Given the description of an element on the screen output the (x, y) to click on. 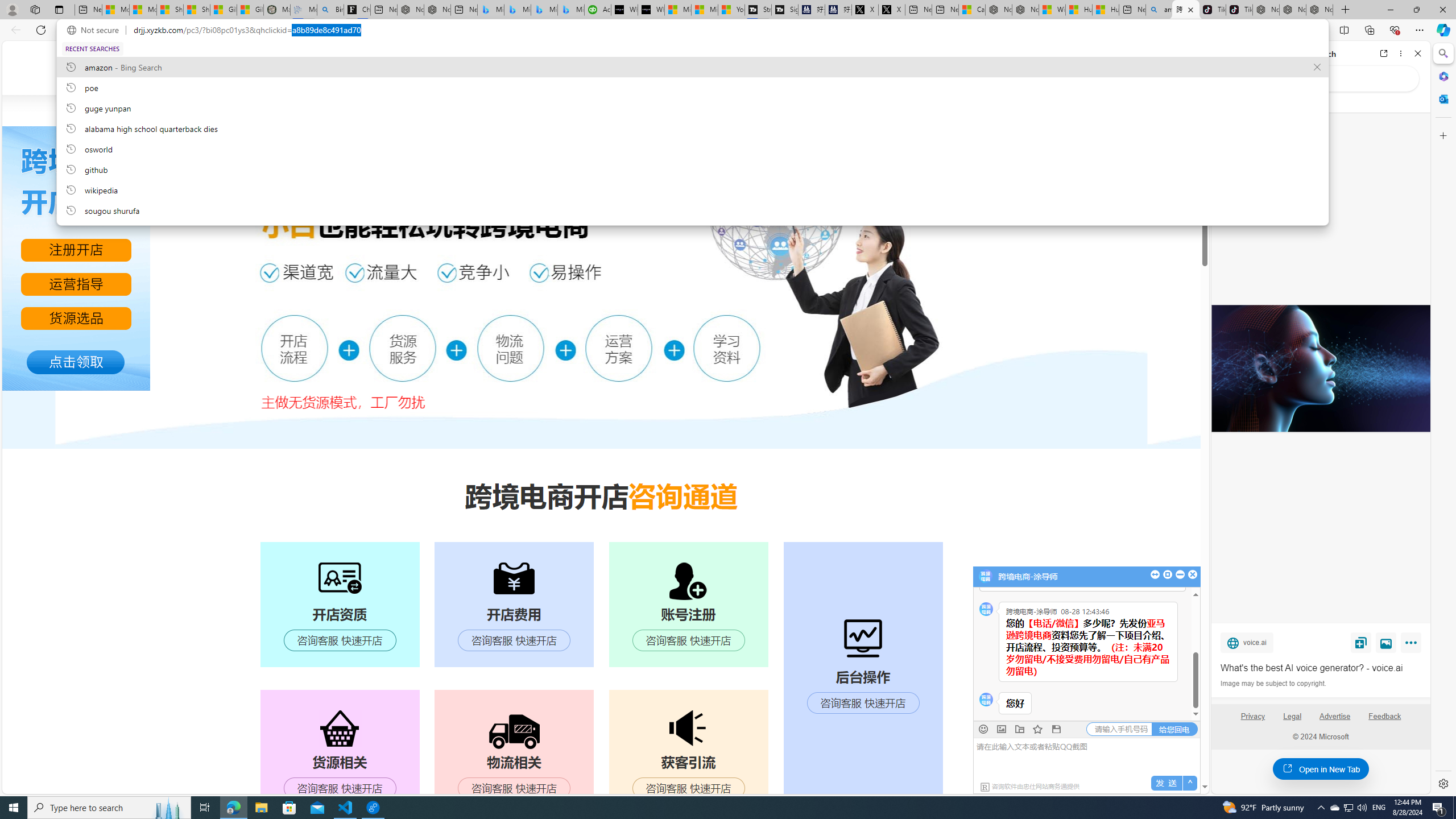
sougou shurufa, recent searches from history (691, 209)
osworld, recent searches from history (691, 148)
Microsoft Bing Travel - Stays in Bangkok, Bangkok, Thailand (517, 9)
voice.ai (1247, 642)
Image may be subject to copyright. (1273, 682)
Side bar (1443, 418)
github, recent searches from history (691, 168)
Chloe Sorvino (357, 9)
